Given the description of an element on the screen output the (x, y) to click on. 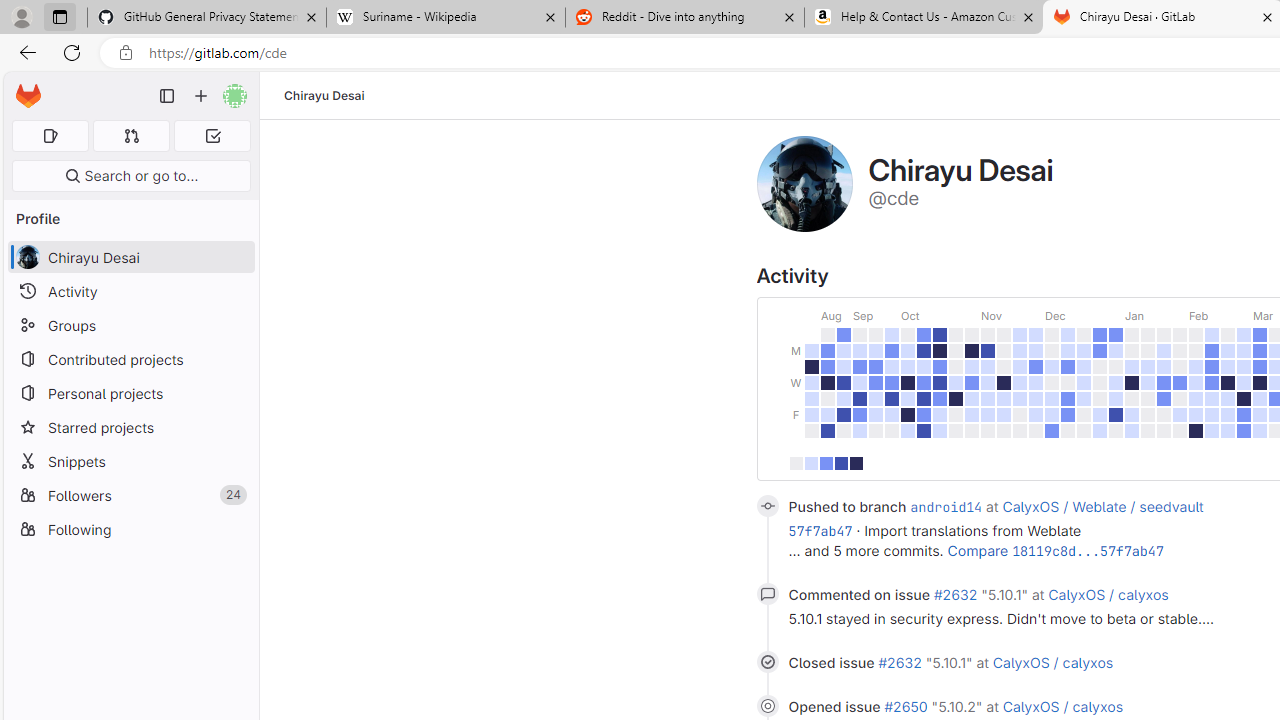
Snippets (130, 461)
Assigned issues 0 (50, 136)
avatar Chirayu Desai (130, 257)
